Given the description of an element on the screen output the (x, y) to click on. 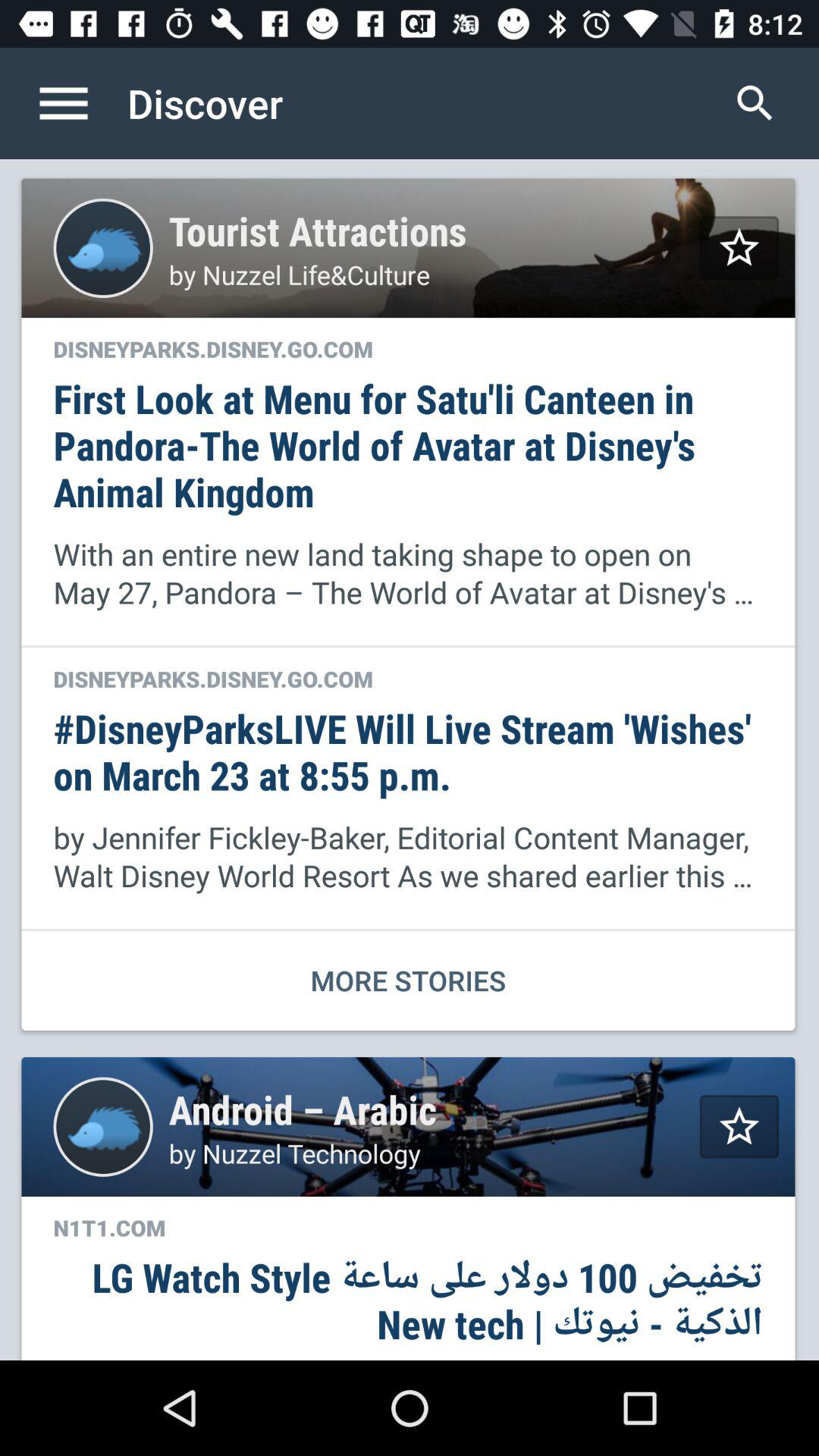
choose the item to the left of discover (79, 103)
